Given the description of an element on the screen output the (x, y) to click on. 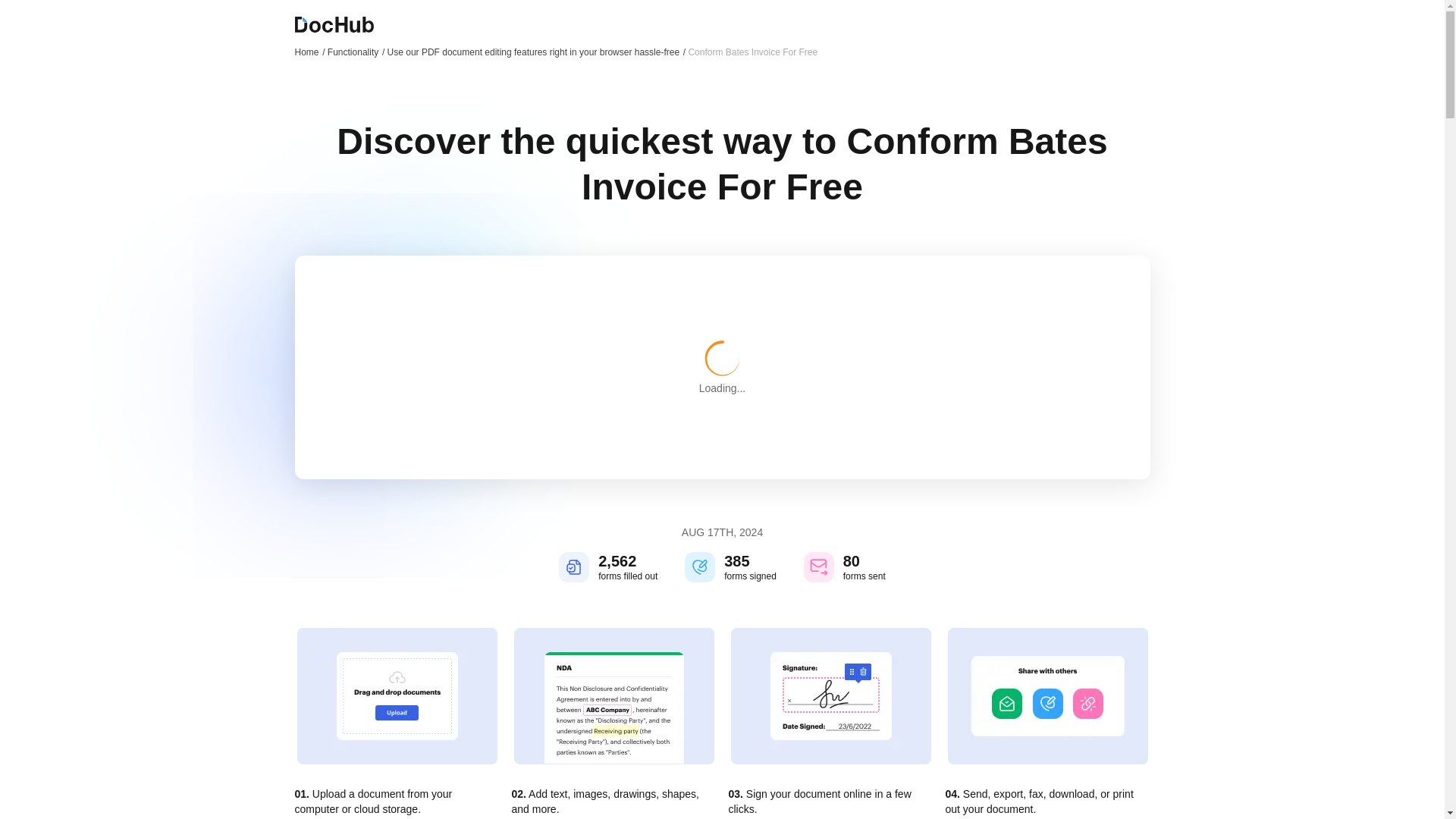
Home (309, 51)
Functionality (355, 51)
